Given the description of an element on the screen output the (x, y) to click on. 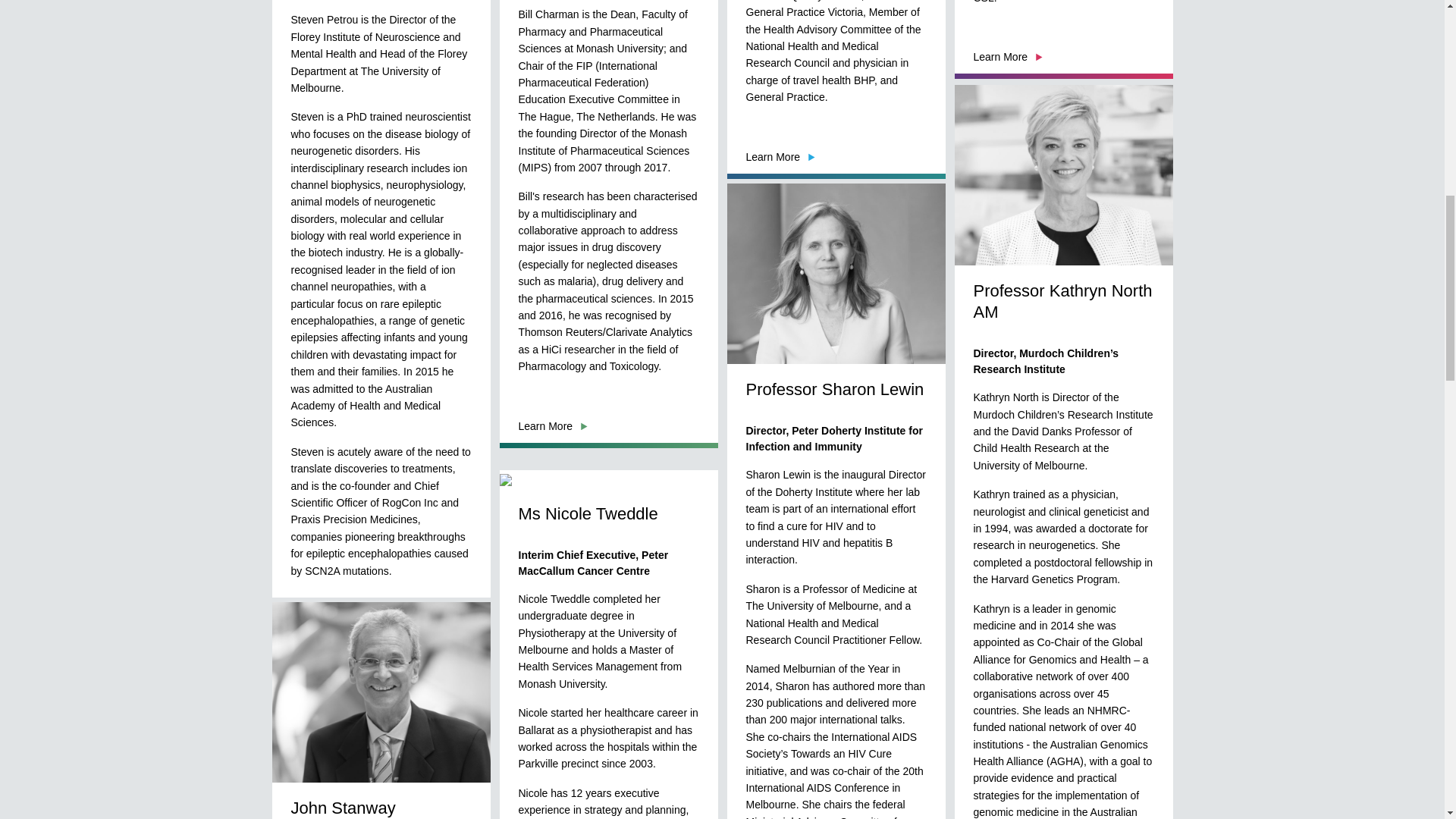
Learn More (326, 630)
Learn More (553, 426)
Learn More (1008, 56)
Learn More (780, 156)
